Given the description of an element on the screen output the (x, y) to click on. 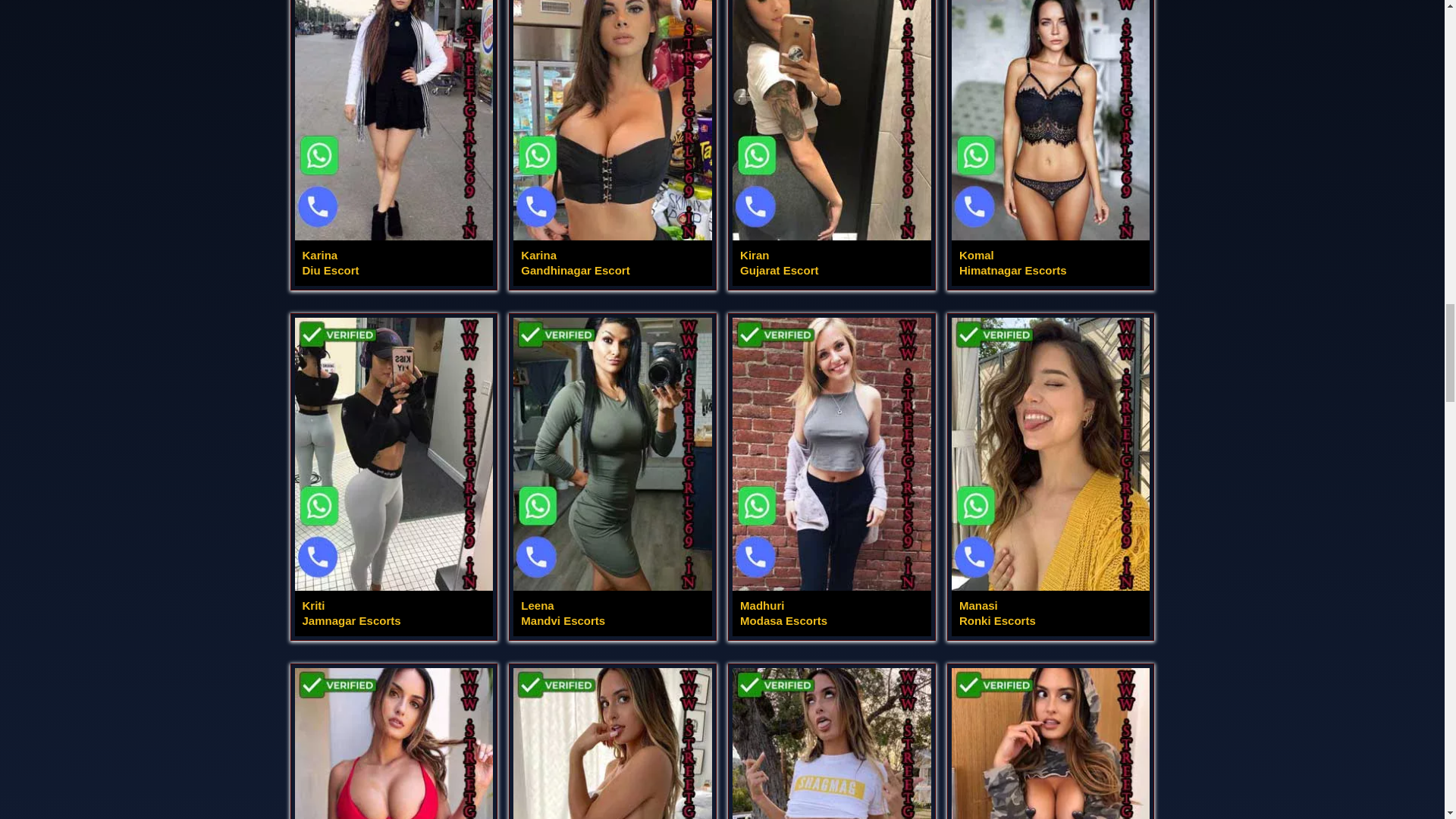
gandhinagar Escorts (393, 476)
diu Escorts (612, 743)
